Given the description of an element on the screen output the (x, y) to click on. 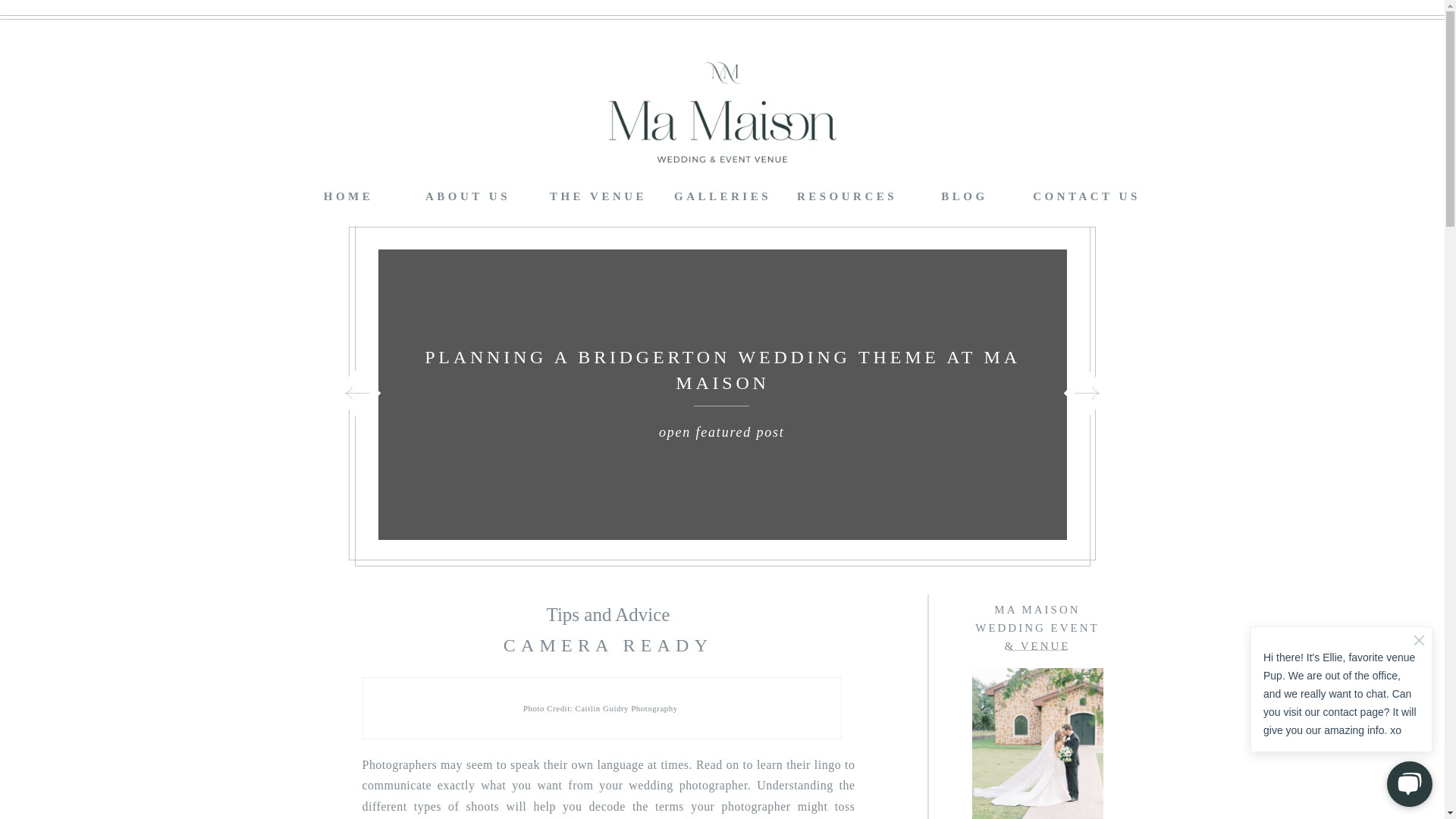
ABOUT US (467, 192)
BLOG (965, 192)
HOME (347, 192)
RESOURCES (846, 192)
CONTACT US (1086, 192)
THE VENUE (598, 192)
GALLERIES (722, 192)
